Given the description of an element on the screen output the (x, y) to click on. 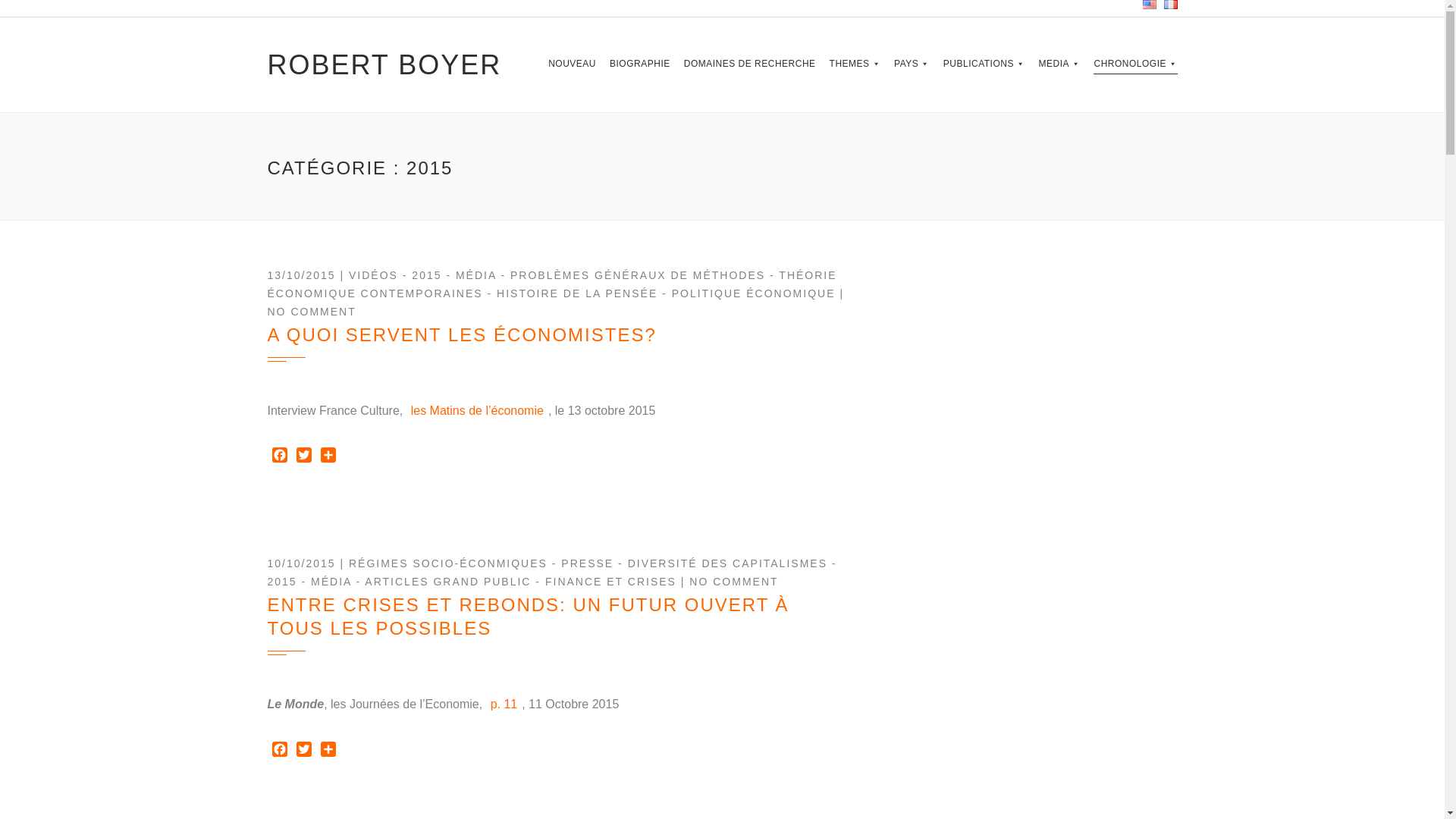
Facebook (278, 456)
Twitter (303, 456)
Twitter (303, 751)
Facebook (278, 751)
Bold (1059, 65)
Bold (984, 65)
Bold (854, 65)
